Given the description of an element on the screen output the (x, y) to click on. 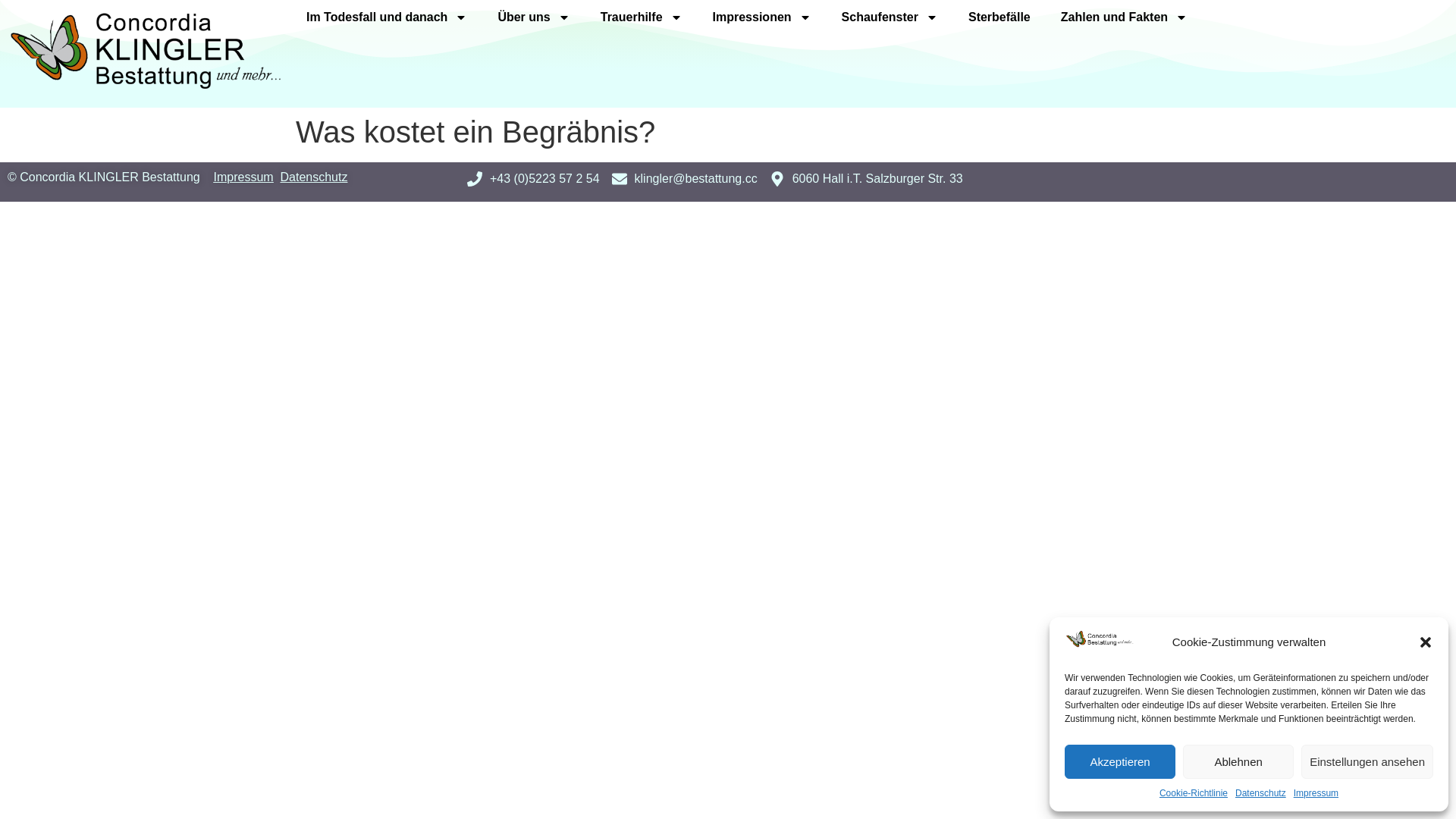
Schaufenster Element type: text (889, 17)
Akzeptieren Element type: text (1119, 761)
Impressum Element type: text (1315, 793)
klingler@bestattung.cc Element type: text (684, 178)
Zahlen und Fakten Element type: text (1123, 17)
6060 Hall i.T. Salzburger Str. 33 Element type: text (866, 178)
+43 (0)5223 57 2 54 Element type: text (533, 178)
Im Todesfall und danach Element type: text (386, 17)
Cookie-Richtlinie Element type: text (1193, 793)
Datenschutz Element type: text (314, 176)
Impressum Element type: text (243, 176)
Einstellungen ansehen Element type: text (1367, 761)
Impressionen Element type: text (761, 17)
Datenschutz Element type: text (1260, 793)
Trauerhilfe Element type: text (641, 17)
Ablehnen Element type: text (1238, 761)
